Given the description of an element on the screen output the (x, y) to click on. 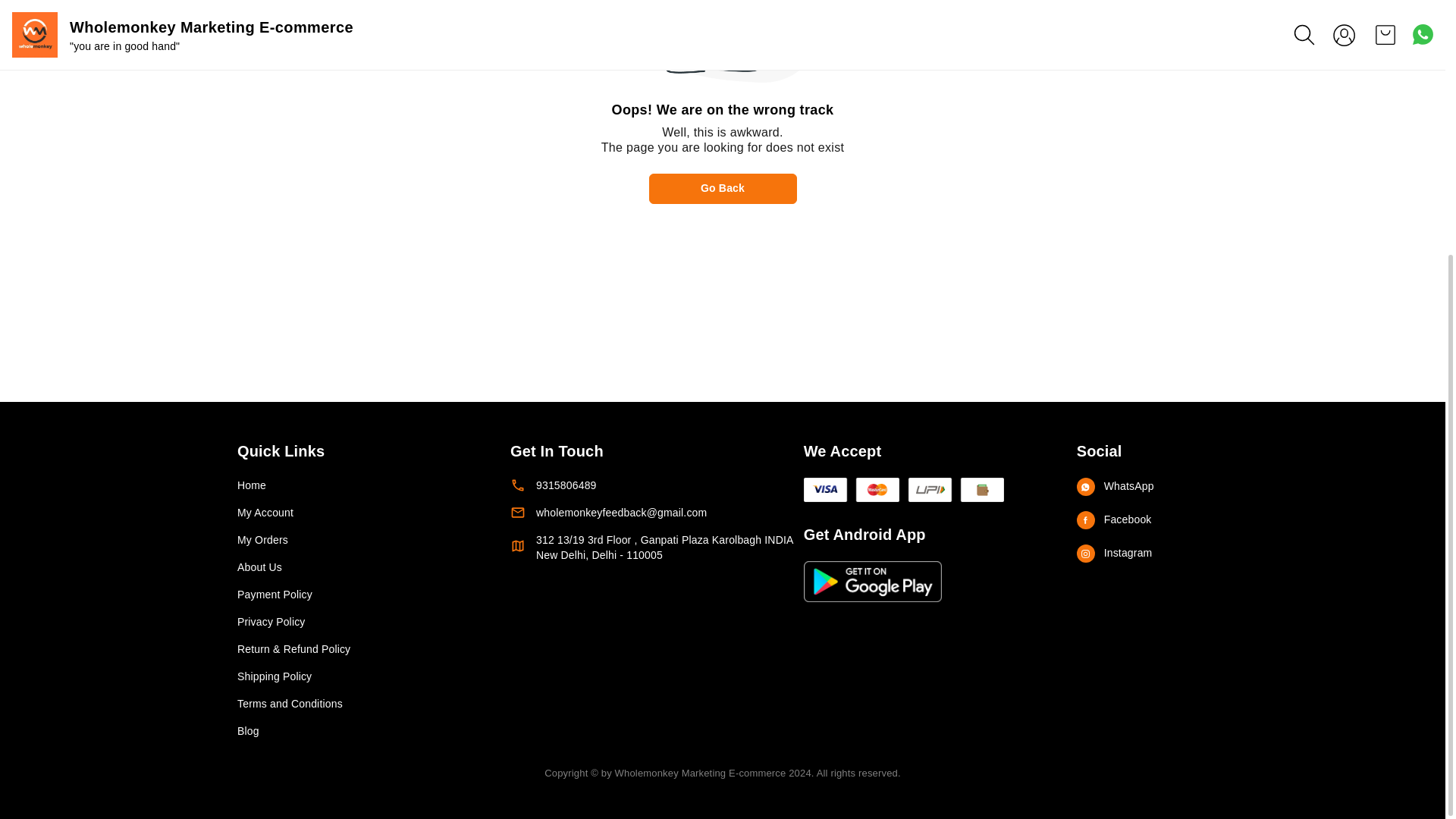
9315806489 (657, 485)
Terms and Conditions (358, 703)
Home (358, 485)
Privacy Policy (358, 621)
Shipping Policy (358, 676)
My Account (358, 512)
Payment Policy (358, 594)
Instagram (1142, 553)
Go Back (722, 188)
WhatsApp (1142, 486)
